Given the description of an element on the screen output the (x, y) to click on. 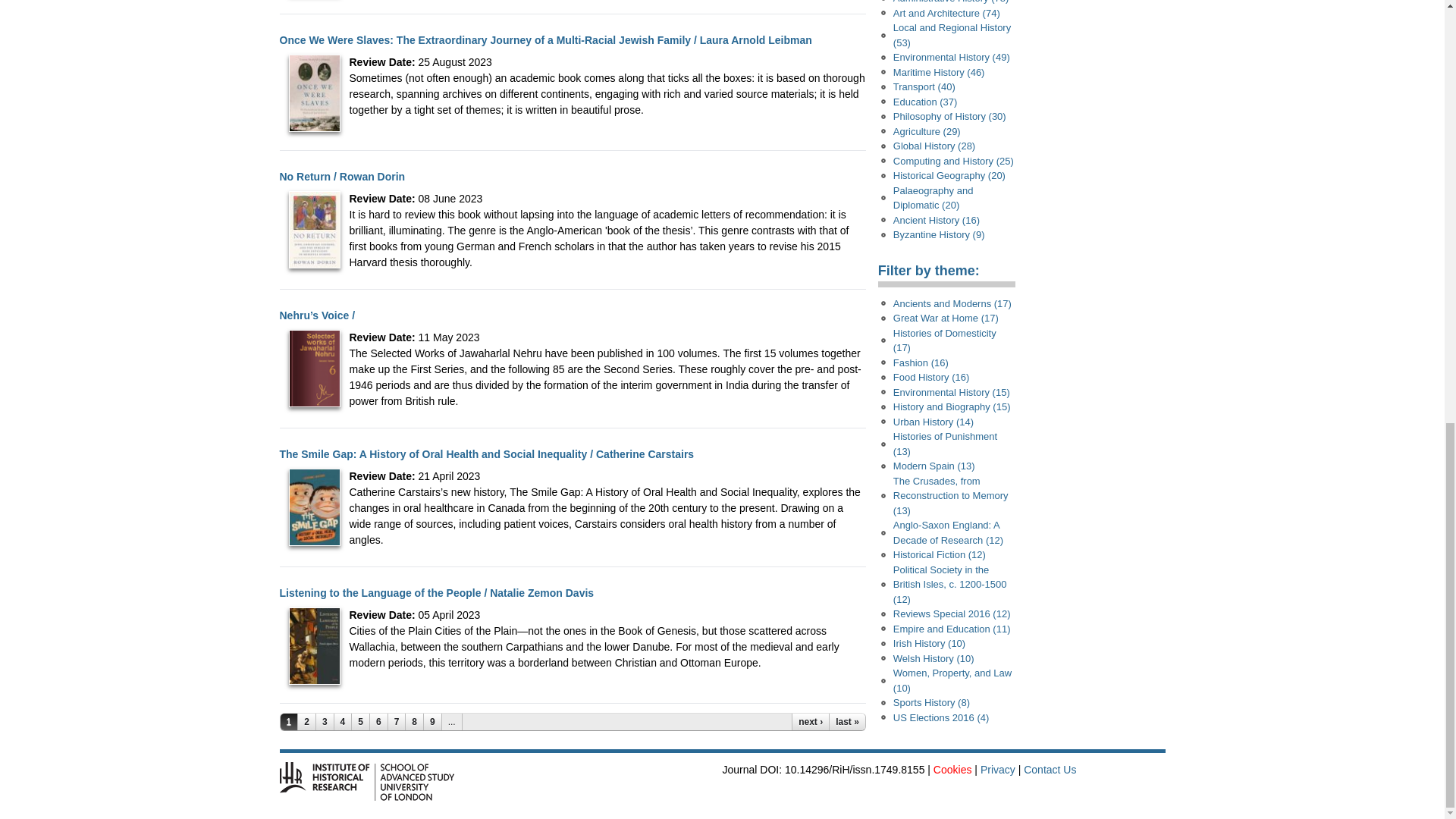
4 (343, 721)
7 (397, 721)
2 (306, 721)
3 (324, 721)
8 (414, 721)
6 (378, 721)
5 (360, 721)
9 (432, 721)
